Given the description of an element on the screen output the (x, y) to click on. 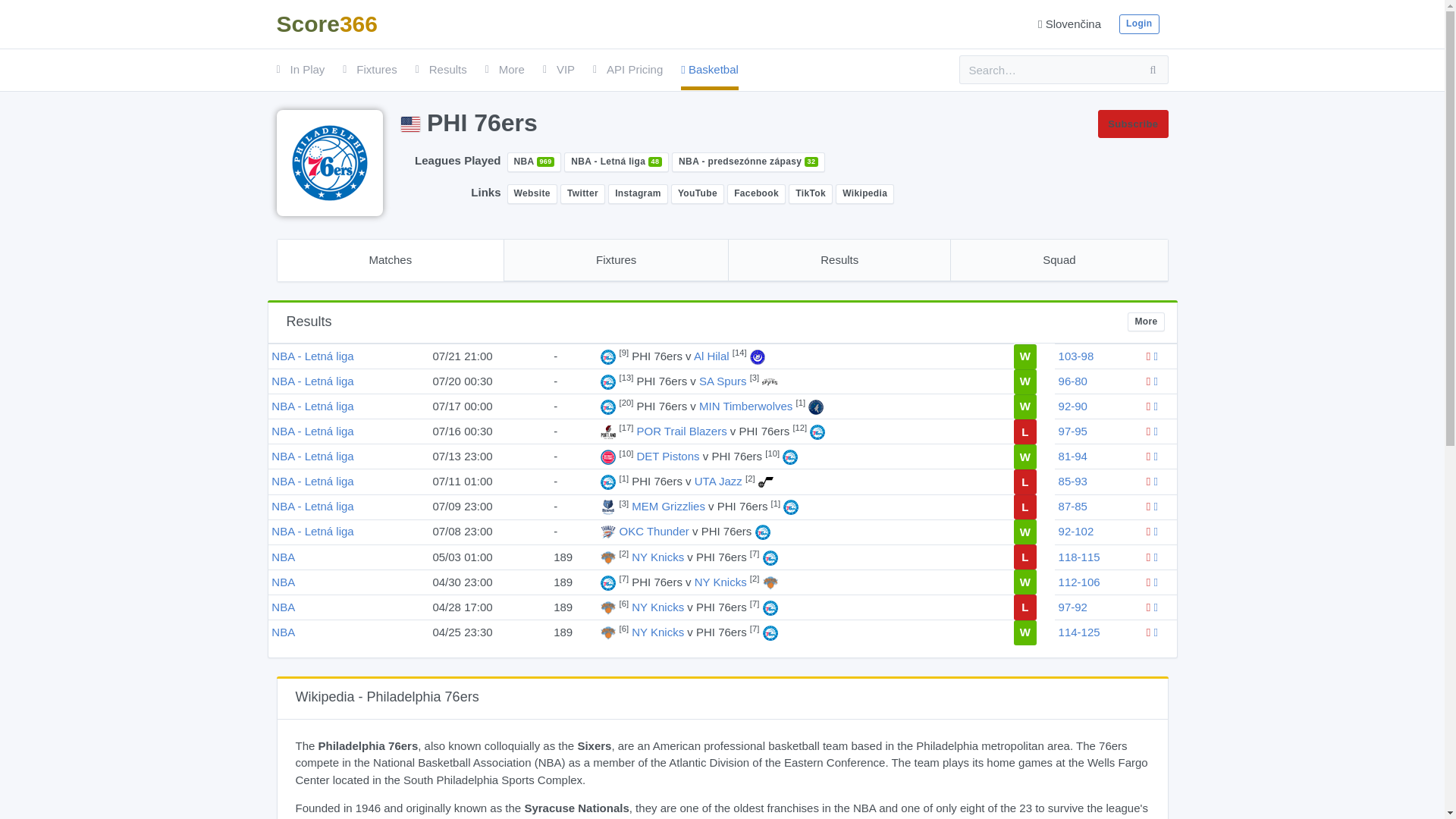
Login (1138, 24)
Results (440, 70)
Fixtures (369, 70)
In Play (300, 70)
Score366 (326, 24)
More (504, 70)
API Pricing (627, 70)
